Given the description of an element on the screen output the (x, y) to click on. 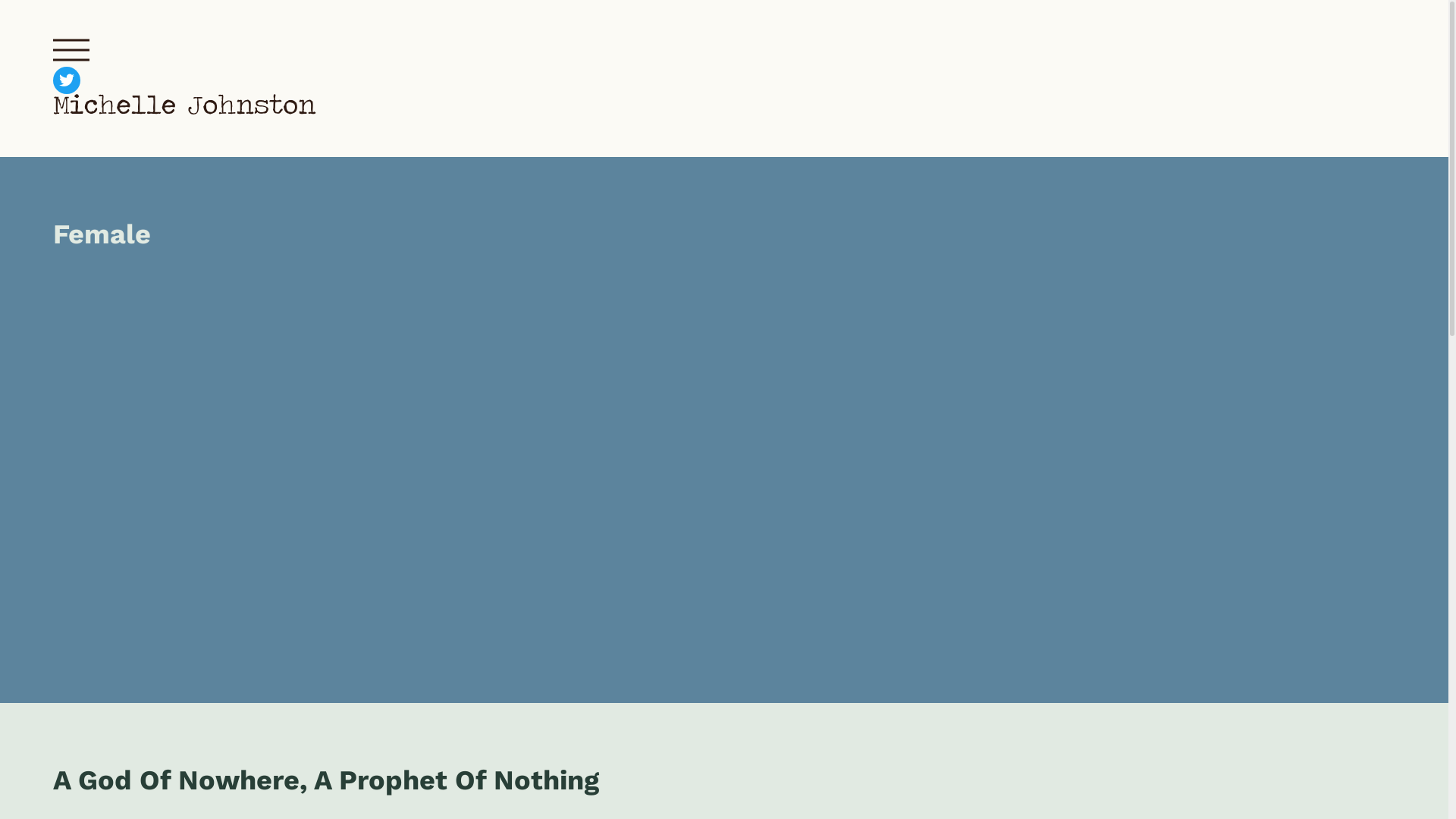
Michelle Johnston Element type: hover (184, 109)
A God Of Nowhere, A Prophet Of Nothing Element type: text (326, 780)
FOLLOW @ELEYTHERIUS Element type: hover (66, 80)
